Given the description of an element on the screen output the (x, y) to click on. 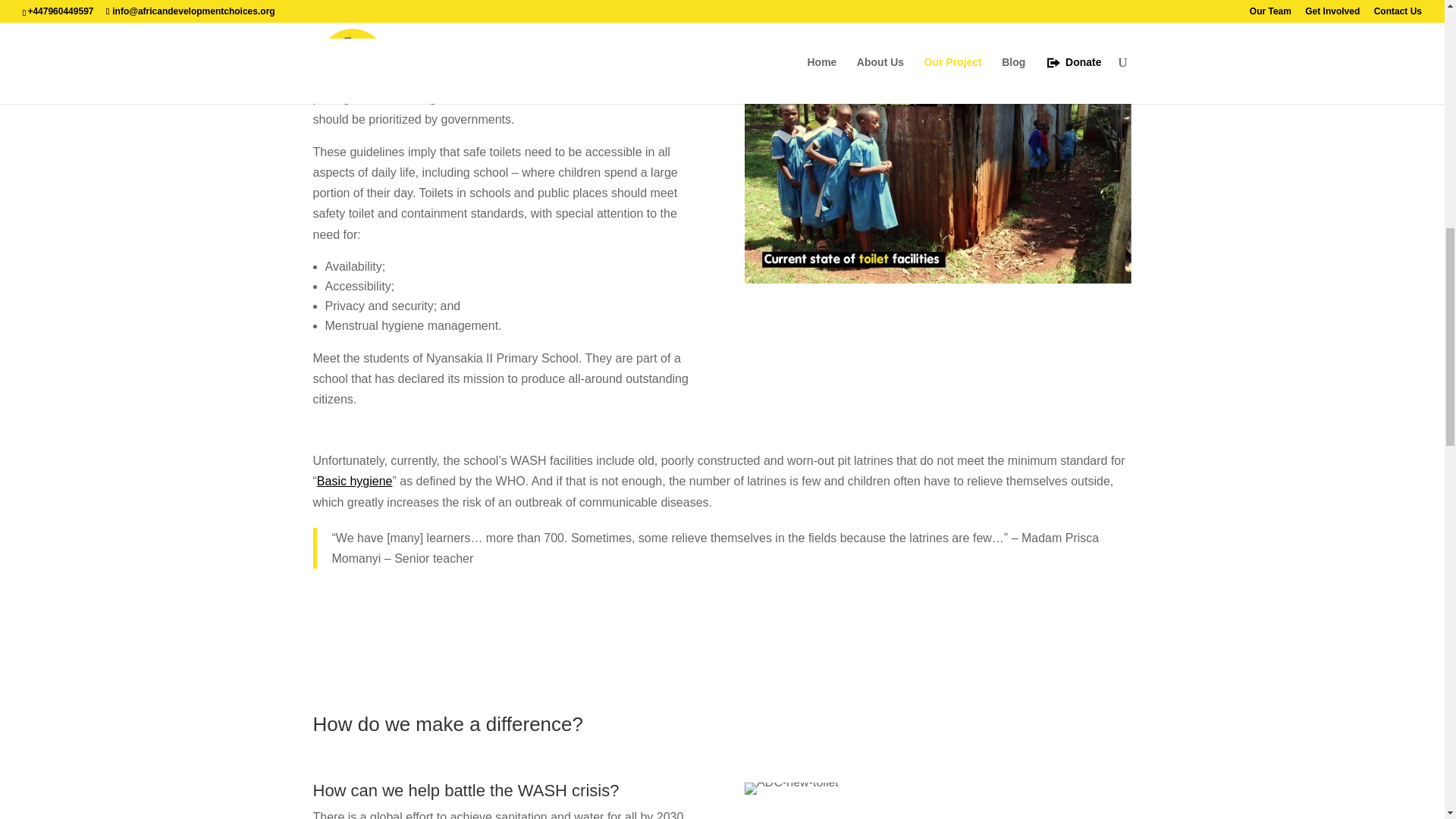
ADC-new-toilet-6-768x432 (791, 788)
WHO (418, 56)
Basic hygiene (355, 481)
